Given the description of an element on the screen output the (x, y) to click on. 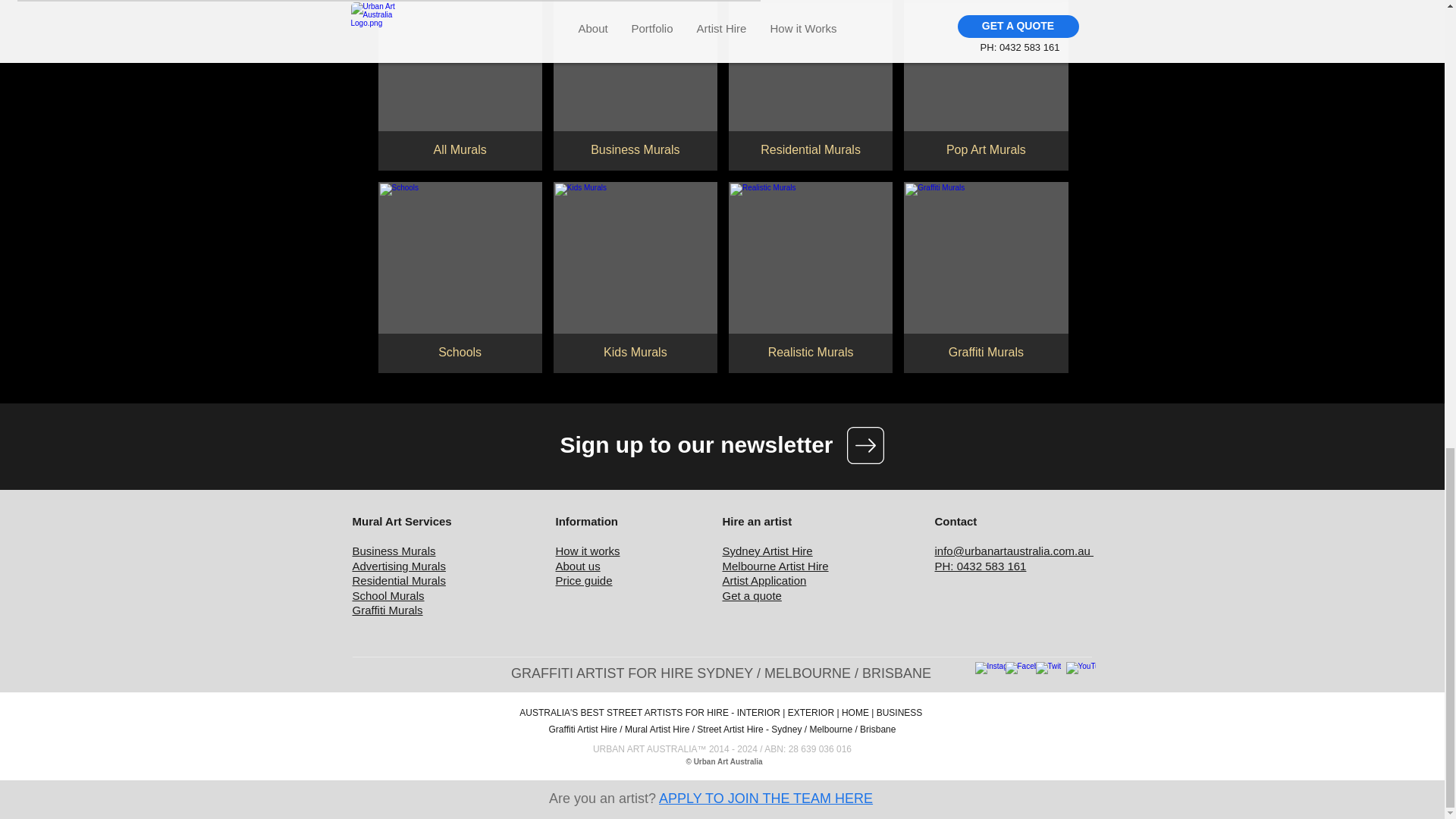
School Murals (387, 594)
Price guide (582, 580)
All Murals (459, 85)
How it works (587, 550)
Business Murals (635, 85)
About us (576, 565)
Graffiti Murals (387, 609)
Pop Art Murals (985, 85)
Residential Murals (810, 85)
Advertising Murals (398, 565)
